Given the description of an element on the screen output the (x, y) to click on. 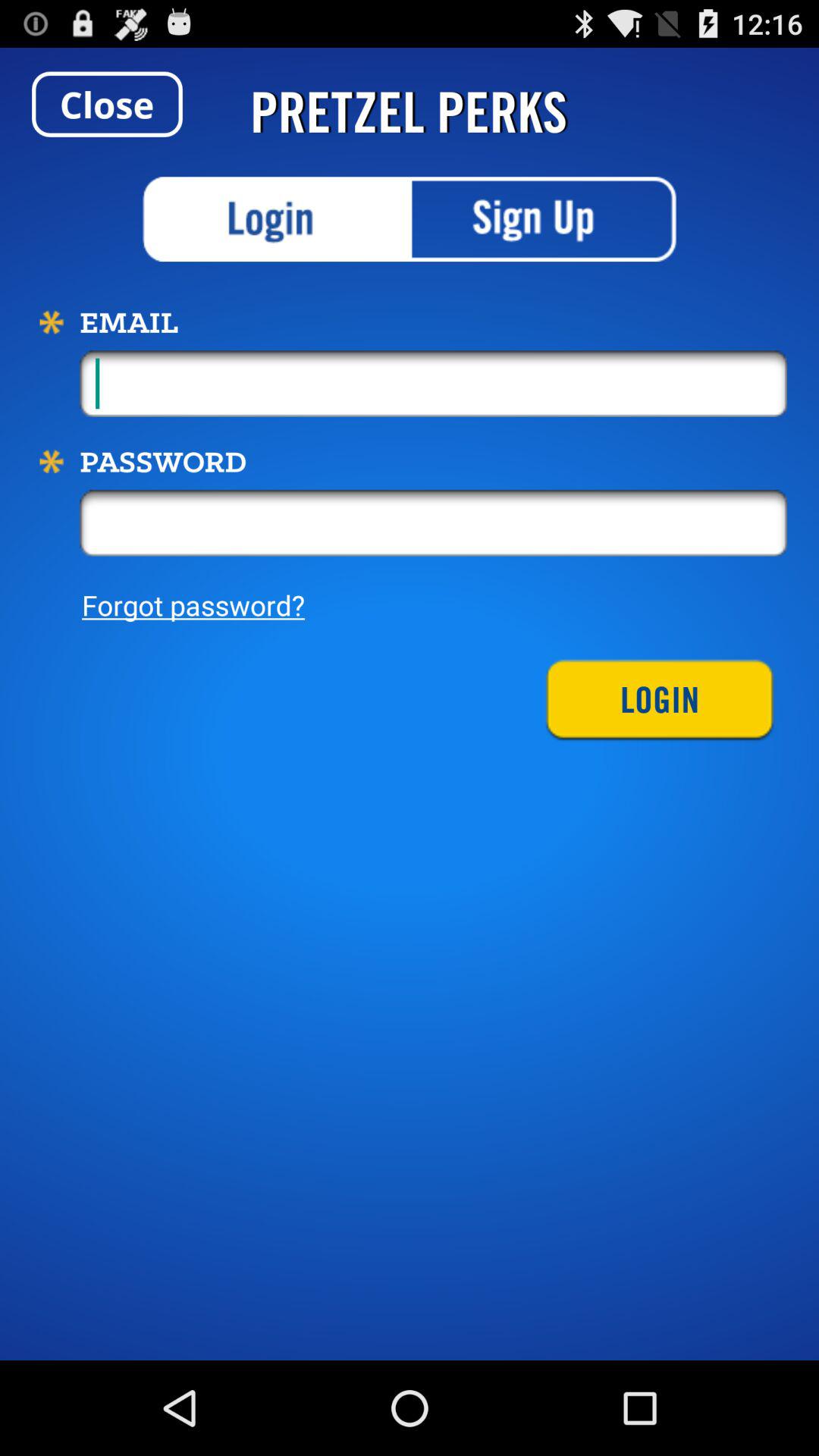
toggle security option (276, 218)
